Given the description of an element on the screen output the (x, y) to click on. 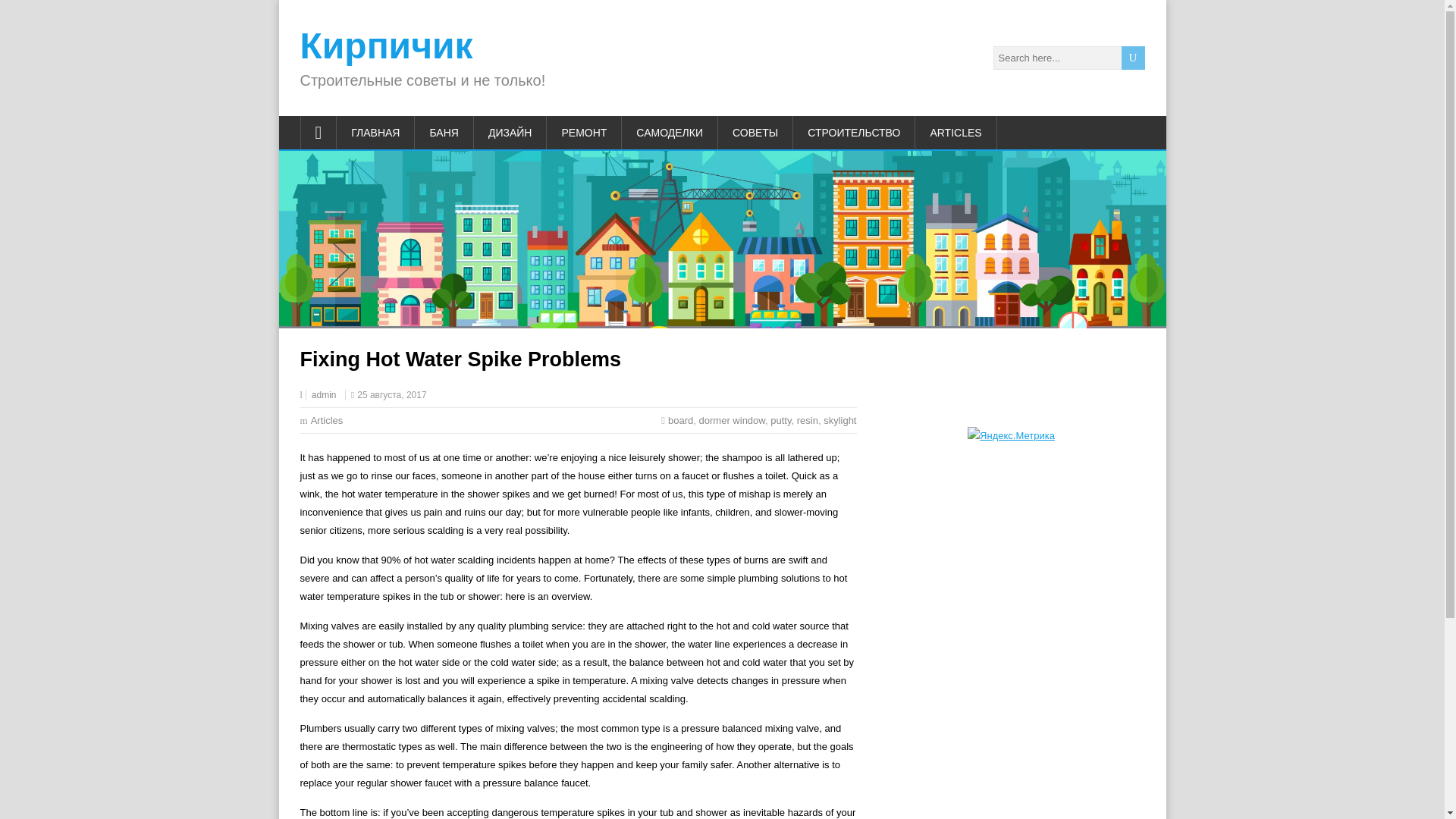
resin (807, 419)
board (680, 419)
dormer window (731, 419)
U (1132, 57)
ARTICLES (955, 132)
admin (323, 394)
Articles (327, 419)
putty (780, 419)
U (1132, 57)
U (1132, 57)
skylight (840, 419)
